Given the description of an element on the screen output the (x, y) to click on. 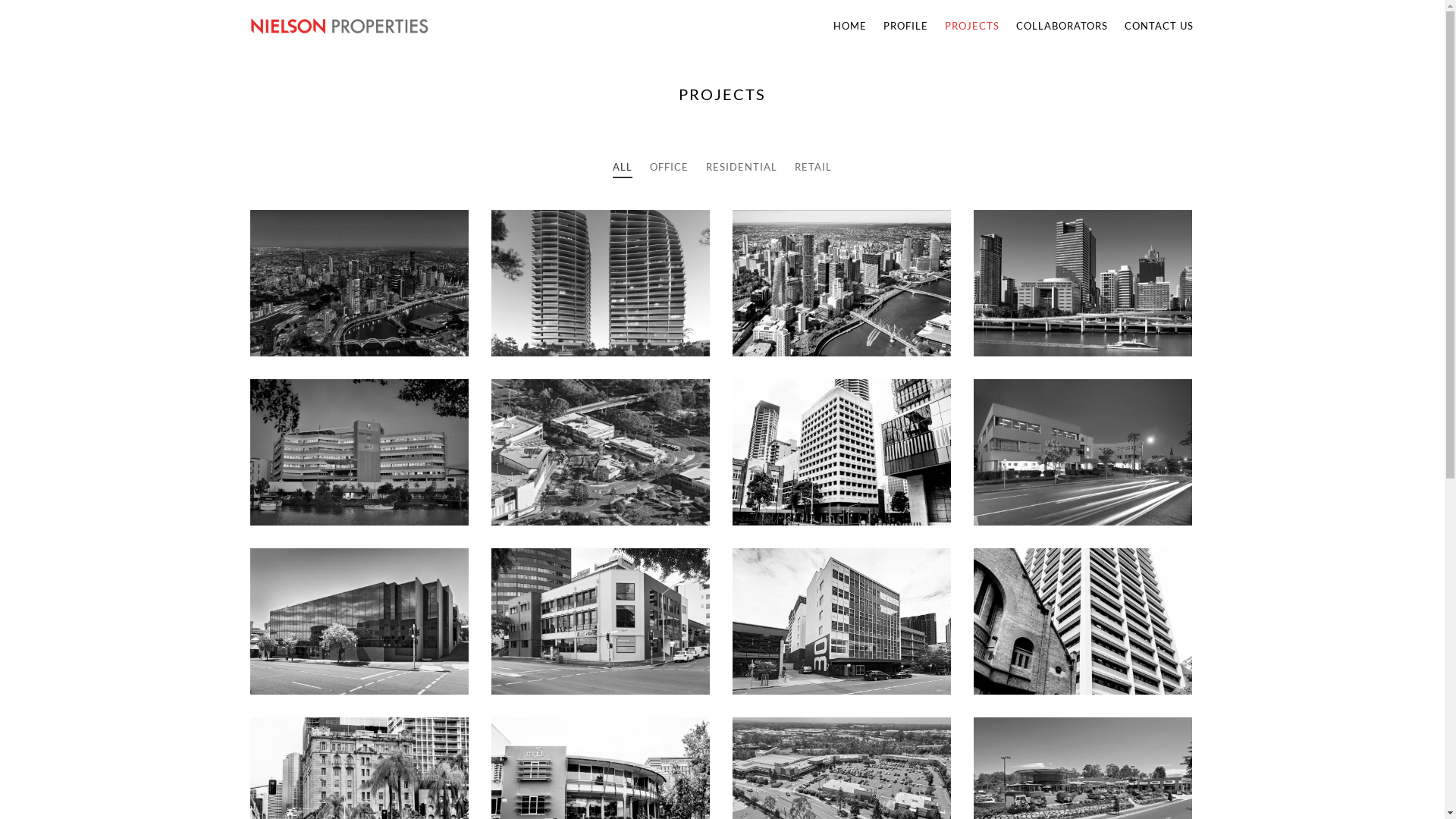
COLLABORATORS Element type: text (1061, 25)
RESIDENTIAL Element type: text (741, 166)
ALL Element type: text (622, 166)
HOME Element type: text (849, 25)
OFFICE Element type: text (668, 166)
RETAIL Element type: text (812, 166)
PROFILE Element type: text (905, 25)
PROJECTS Element type: text (972, 25)
CONTACT US Element type: text (1155, 25)
